Given the description of an element on the screen output the (x, y) to click on. 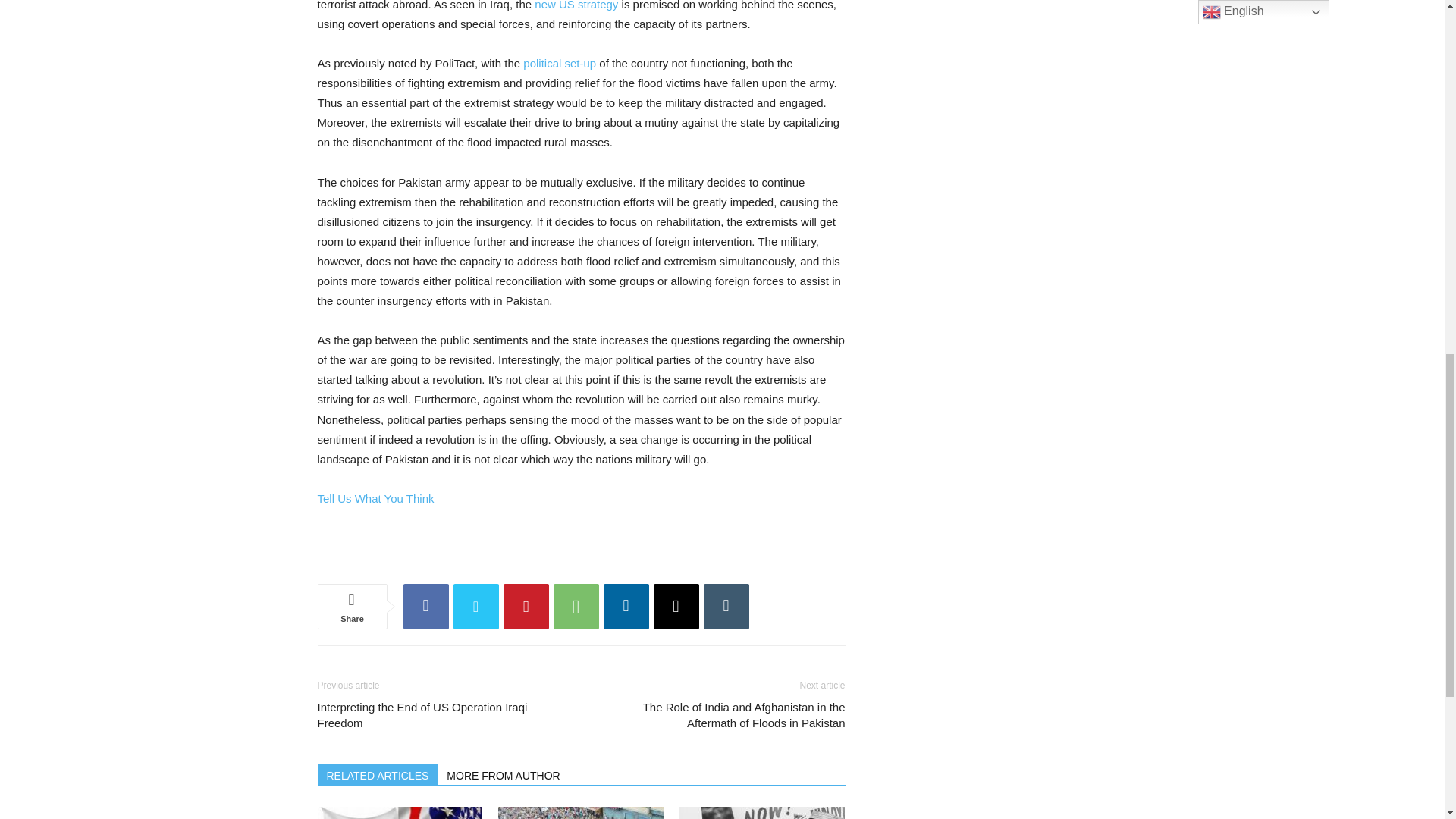
WhatsApp (575, 606)
Is The Traditional US Policy In Pakistan Sustainable? (399, 812)
Facebook (425, 606)
Tumblr (726, 606)
Email (675, 606)
Twitter (475, 606)
Pinterest (525, 606)
Linkedin (626, 606)
